Given the description of an element on the screen output the (x, y) to click on. 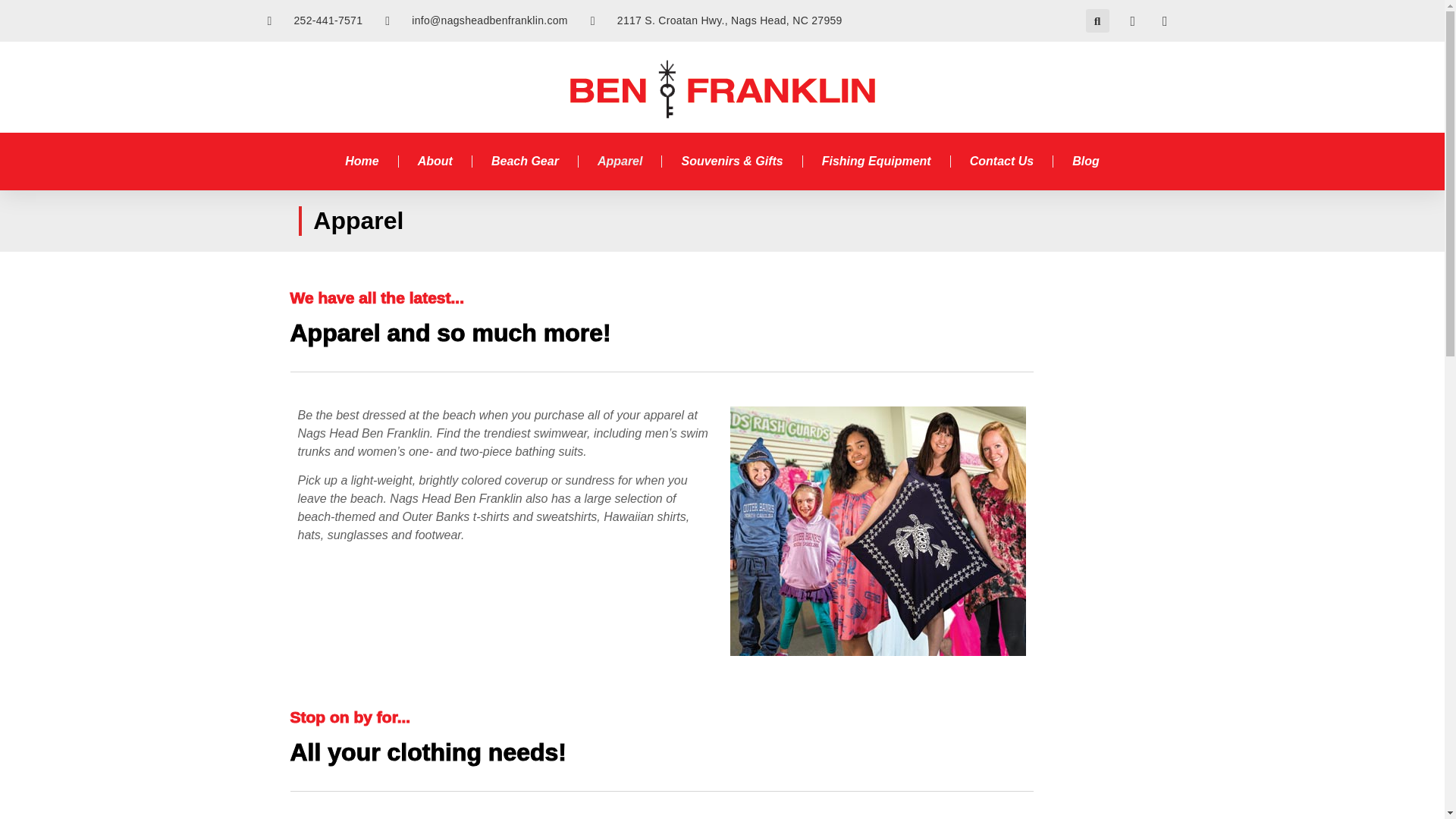
Contact Us (1001, 161)
Apparel (619, 161)
Fishing Equipment (876, 161)
Beach Gear (525, 161)
Home (361, 161)
About (434, 161)
